Given the description of an element on the screen output the (x, y) to click on. 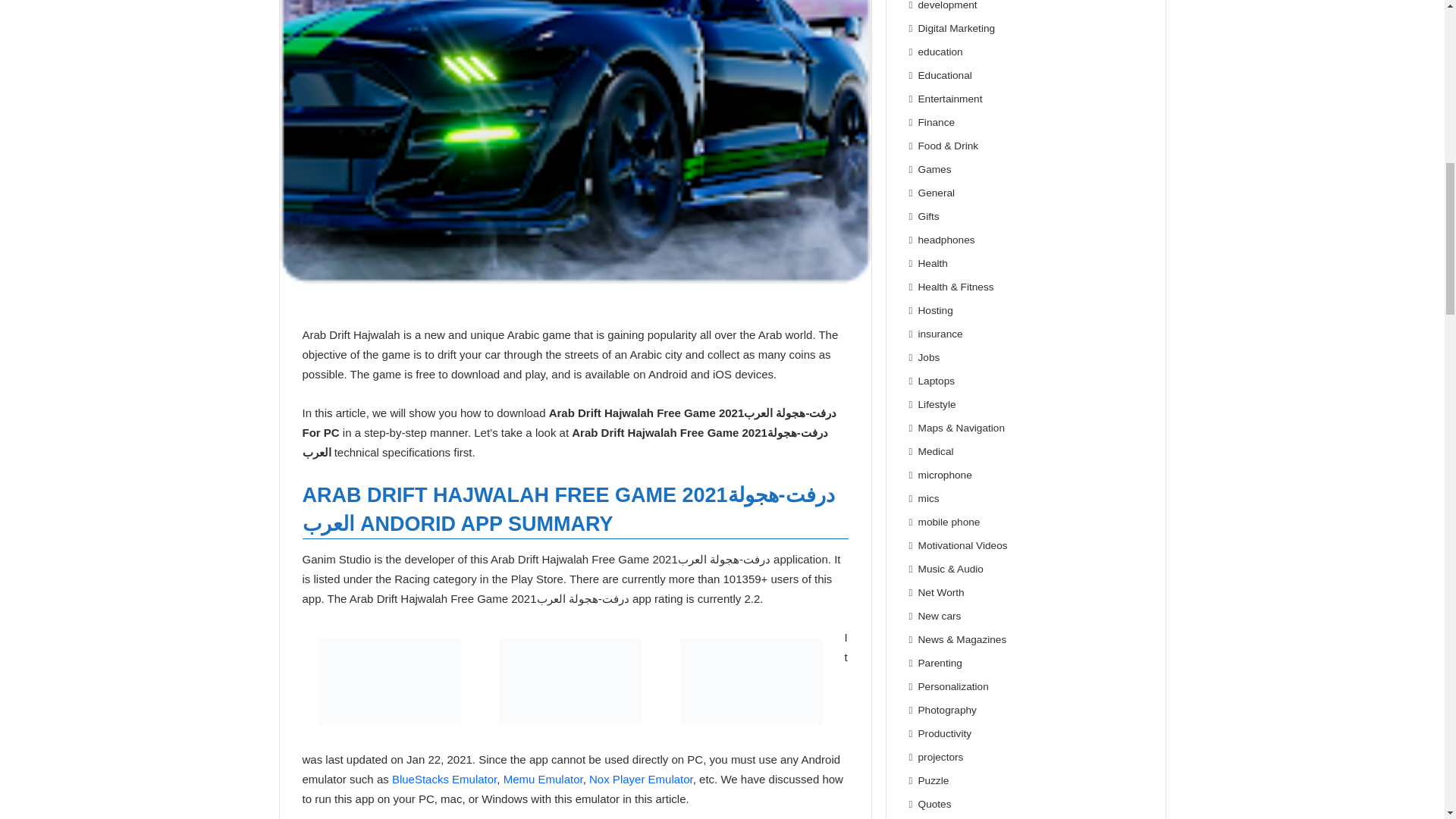
Nox Player Emulator (641, 779)
BlueStacks Emulator (443, 779)
Memu Emulator (543, 779)
